Given the description of an element on the screen output the (x, y) to click on. 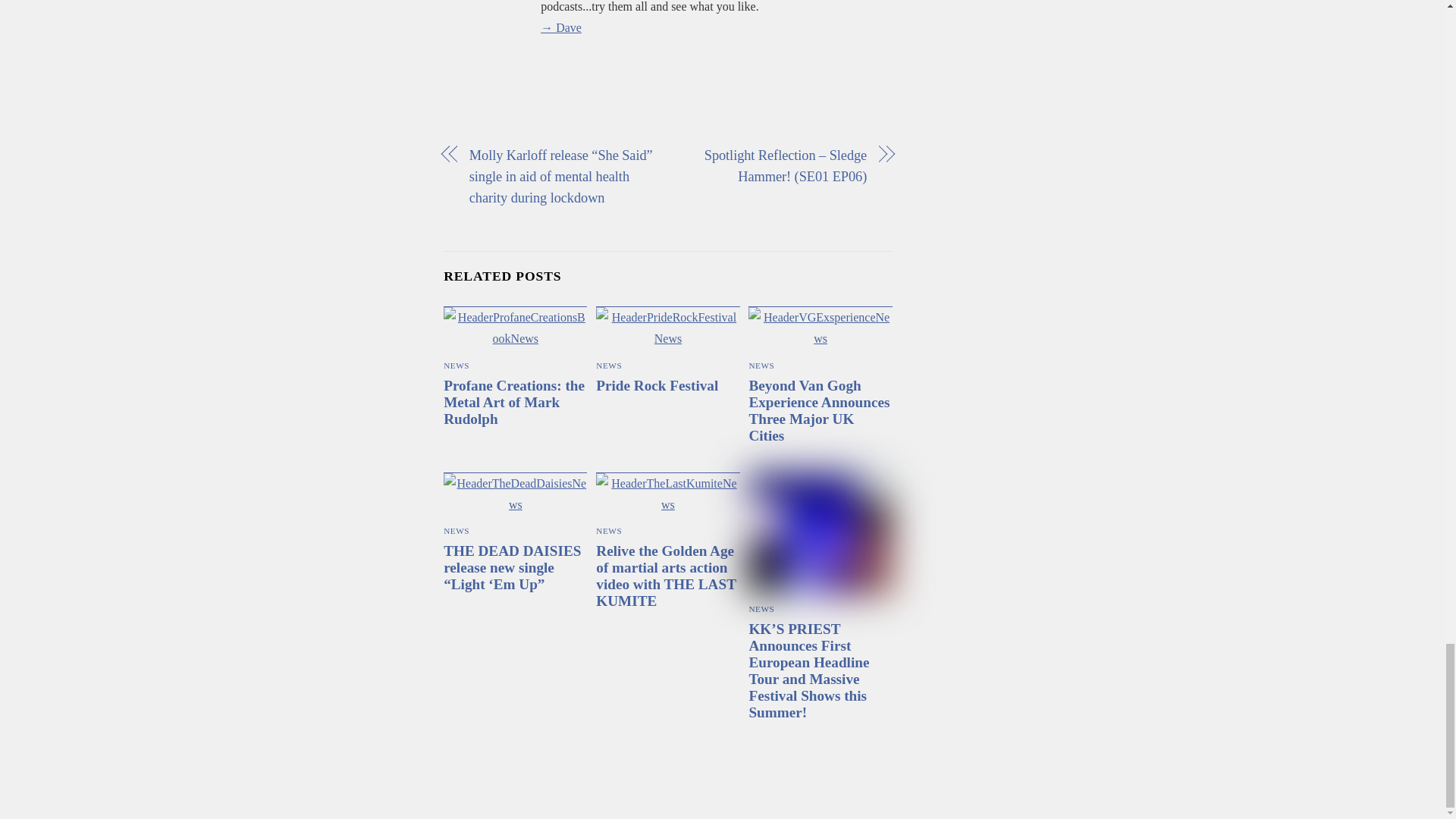
HeaderVGExsperienceNews (819, 327)
HeaderProfaneCreationsBookNews (515, 327)
HeaderTheLastKumiteNews (667, 493)
HeaderPrideRockFestivalNews (667, 327)
HeaderKKsPriestNews (819, 532)
HeaderTheDeadDaisiesNews (515, 493)
